Given the description of an element on the screen output the (x, y) to click on. 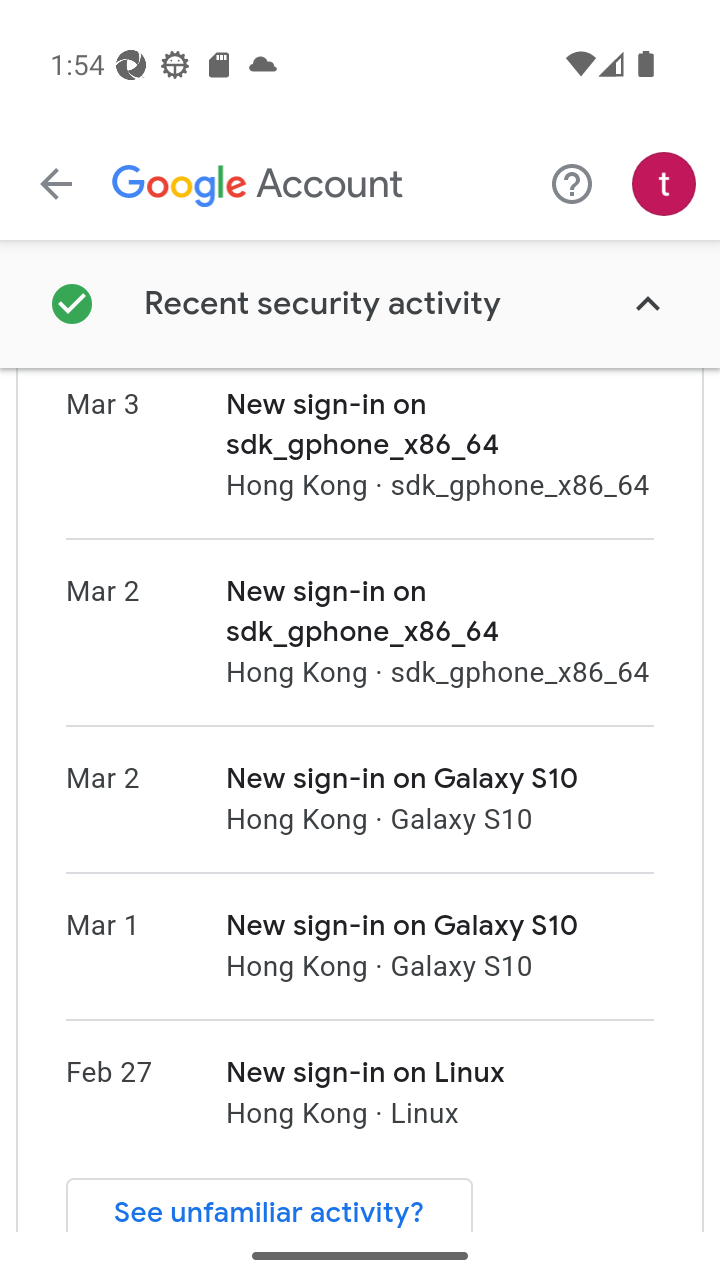
Navigate up (56, 184)
Help & feedback (571, 183)
No issues found in recent account activity (360, 304)
See unfamiliar activity? (269, 1204)
